Given the description of an element on the screen output the (x, y) to click on. 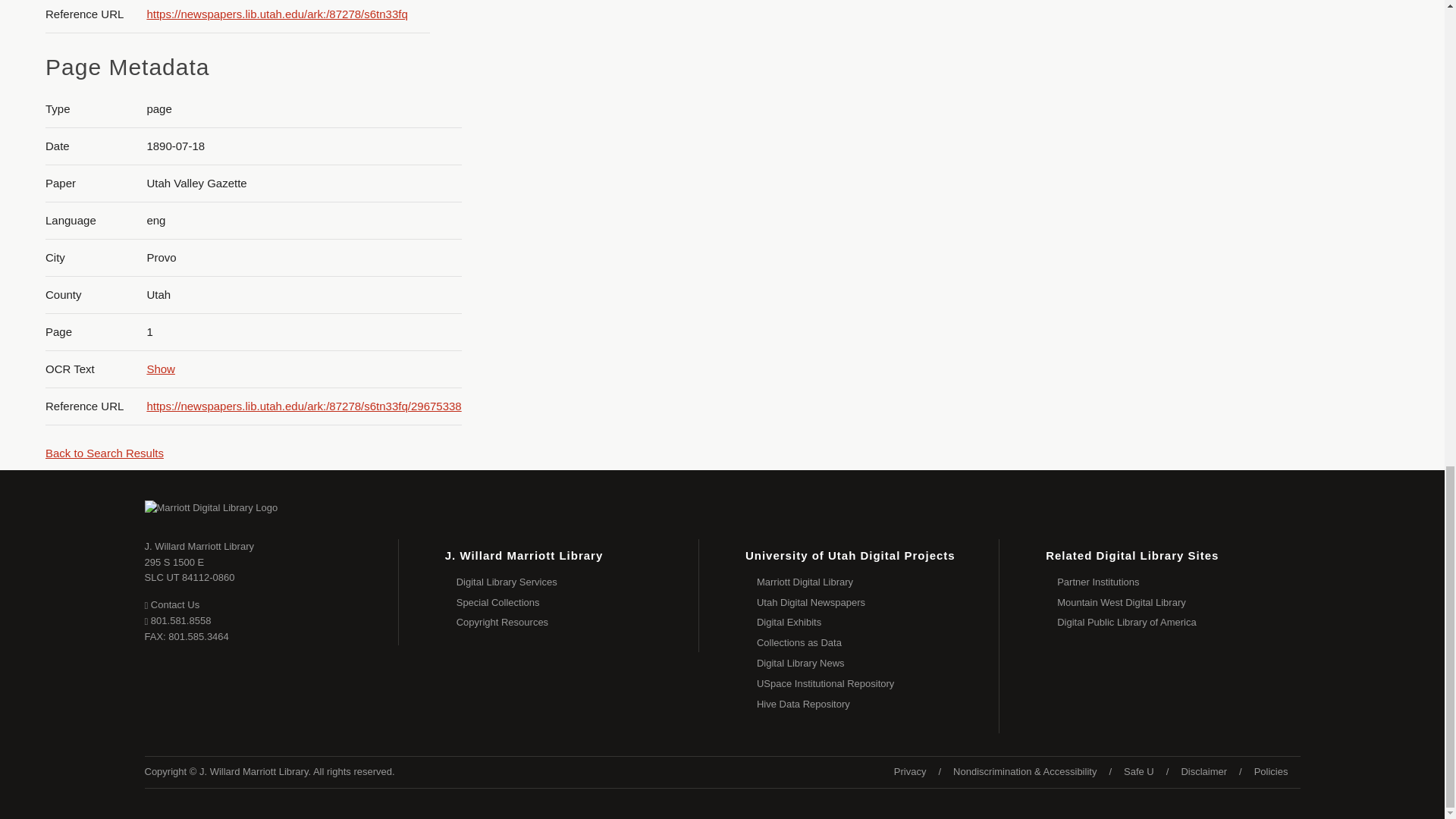
J. Willard Marriott Library (198, 546)
Digital Library Services (577, 582)
Back to Search Results (104, 452)
Contact Us (171, 604)
Show (189, 569)
Copyright Resources (160, 368)
Marriott Digital Library (577, 622)
Digital Exhibits (877, 582)
Special Collections (877, 622)
Utah Digital Newspapers (577, 602)
